Given the description of an element on the screen output the (x, y) to click on. 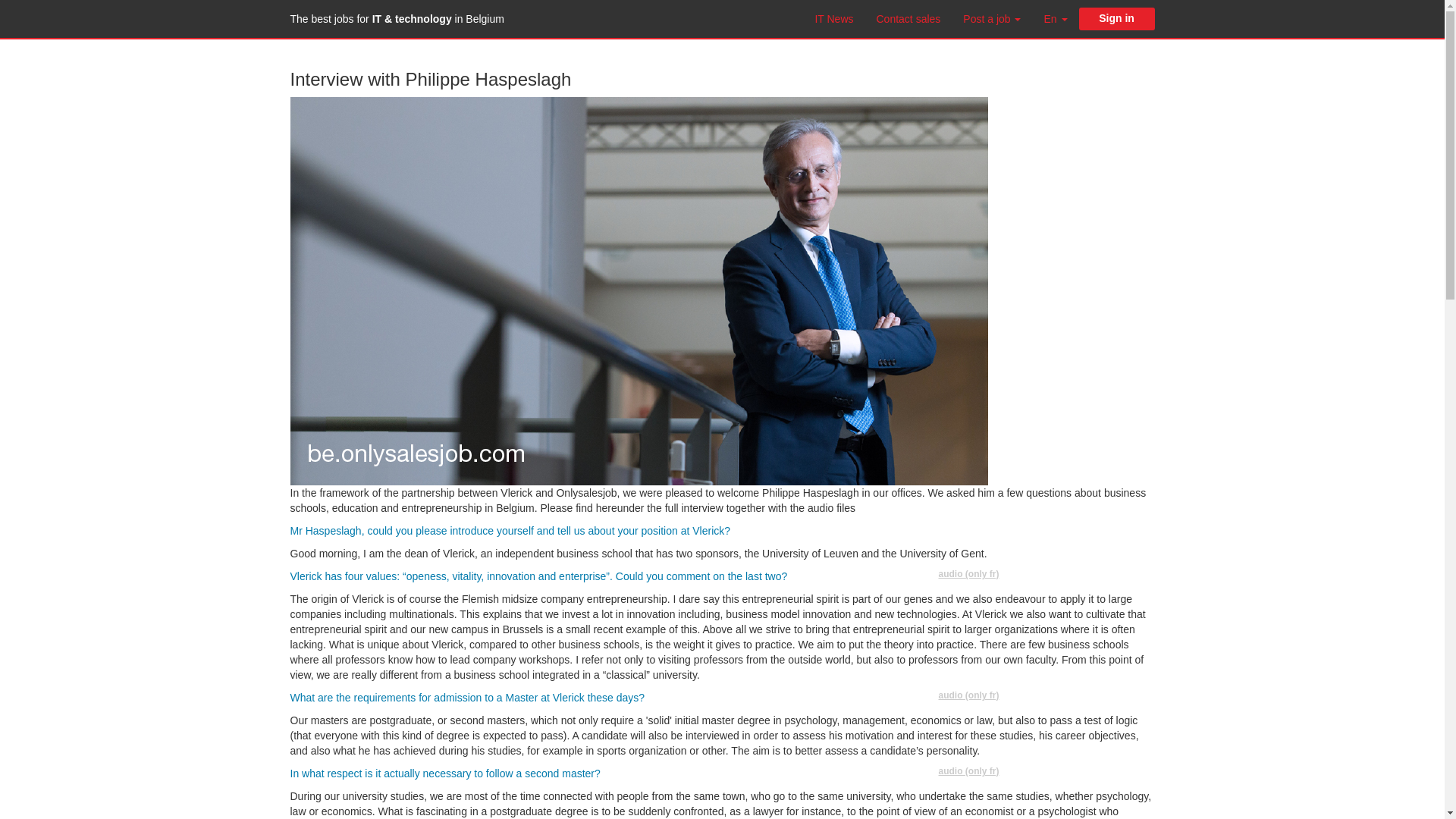
IT News (833, 18)
Sign in (1116, 18)
Contact sales (908, 18)
En (1055, 18)
Post a job (992, 18)
